Given the description of an element on the screen output the (x, y) to click on. 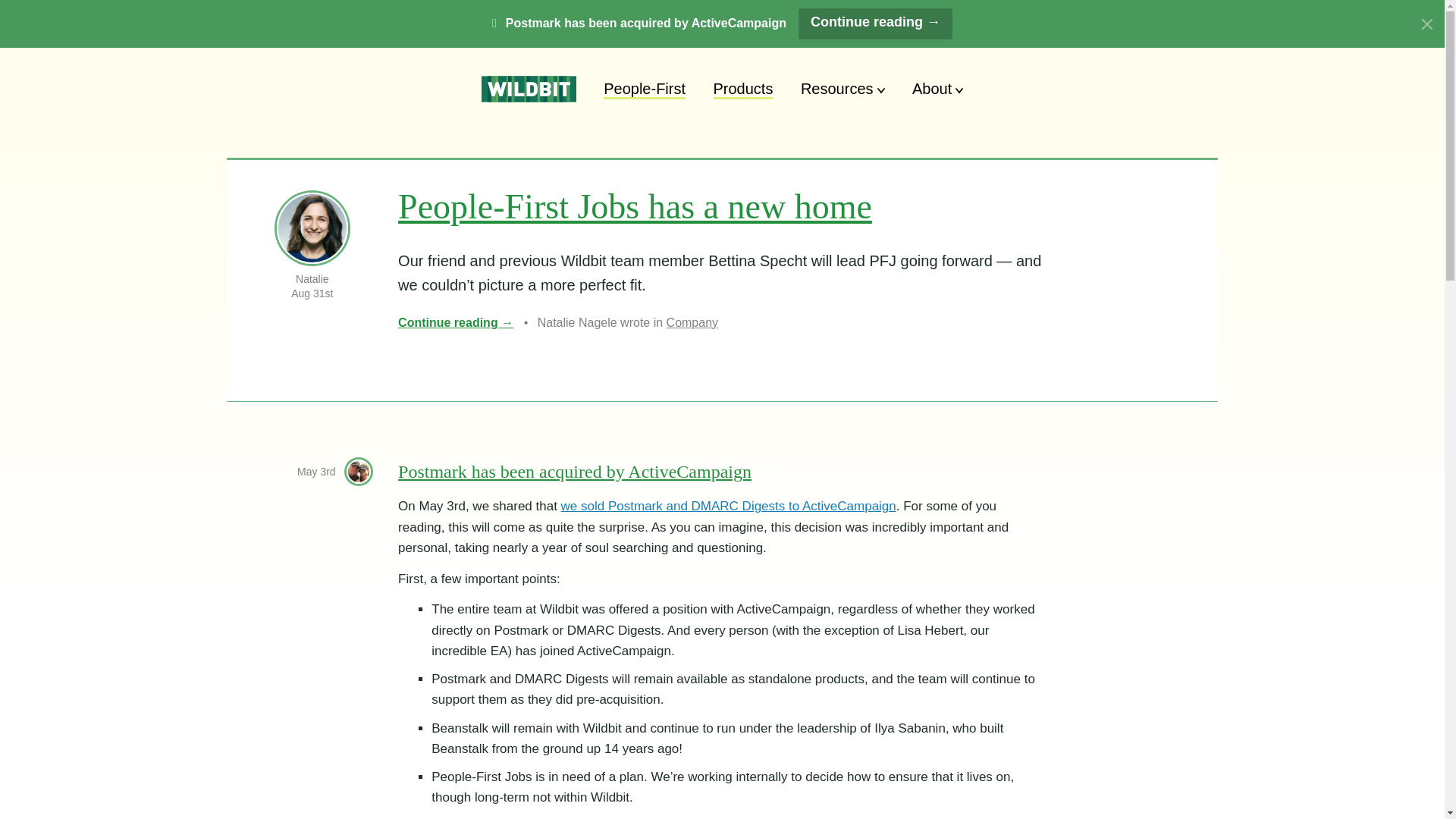
Wildbit (528, 89)
People-First Jobs has a new home (634, 206)
x (1427, 23)
Products (743, 88)
we sold Postmark and DMARC Digests to ActiveCampaign (728, 505)
People-First (644, 88)
Company (691, 322)
Postmark has been acquired by ActiveCampaign (574, 471)
Resources (842, 88)
About (937, 88)
